Given the description of an element on the screen output the (x, y) to click on. 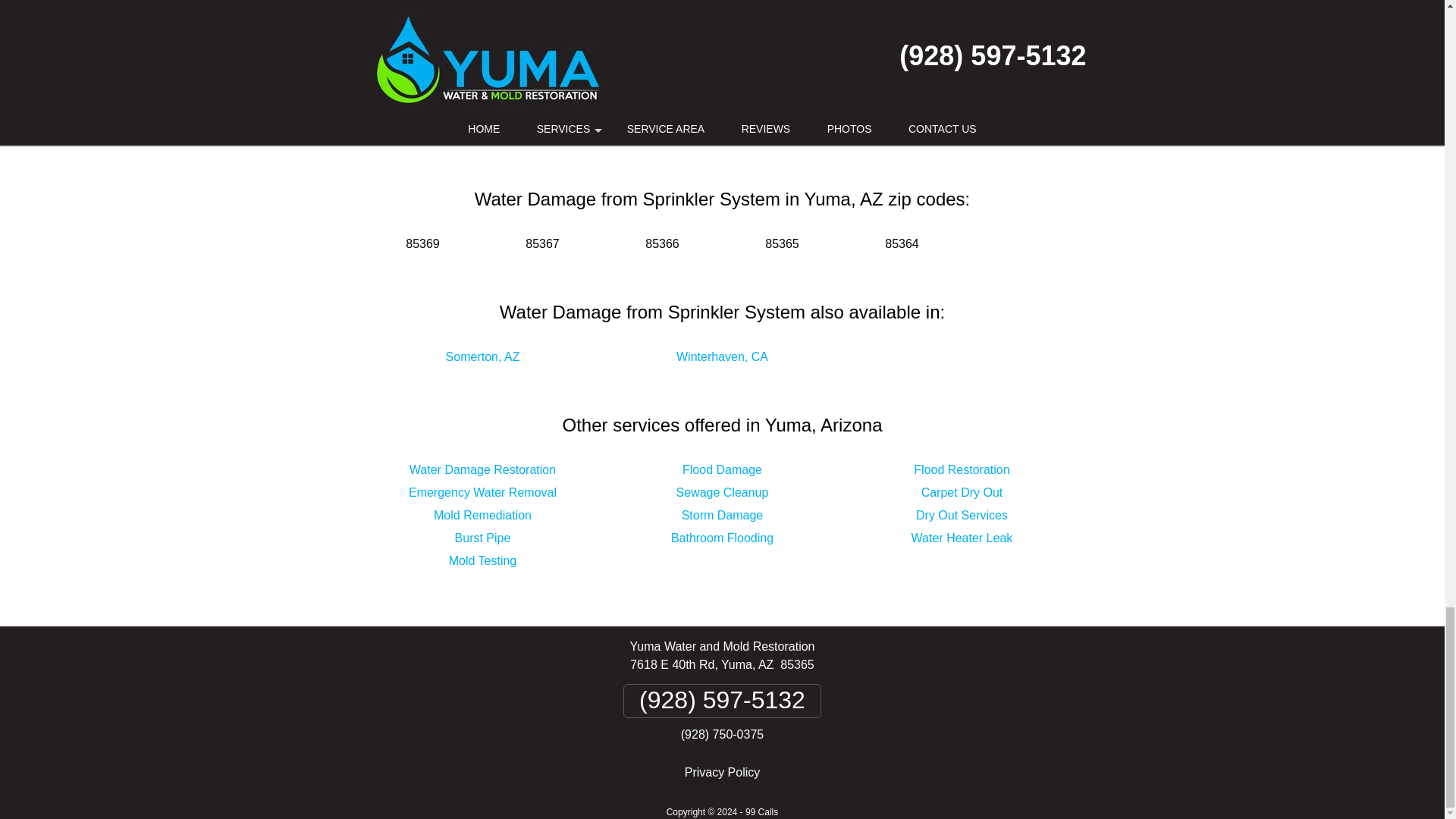
Somerton, AZ (482, 356)
Winterhaven, CA (722, 356)
Facebook (638, 112)
Water Damage Restoration (482, 469)
Flood Restoration (961, 469)
Sewage Cleanup (722, 492)
Emergency Water Removal (482, 492)
Yelp (749, 112)
Houzz (804, 112)
Flood Damage (721, 469)
